Given the description of an element on the screen output the (x, y) to click on. 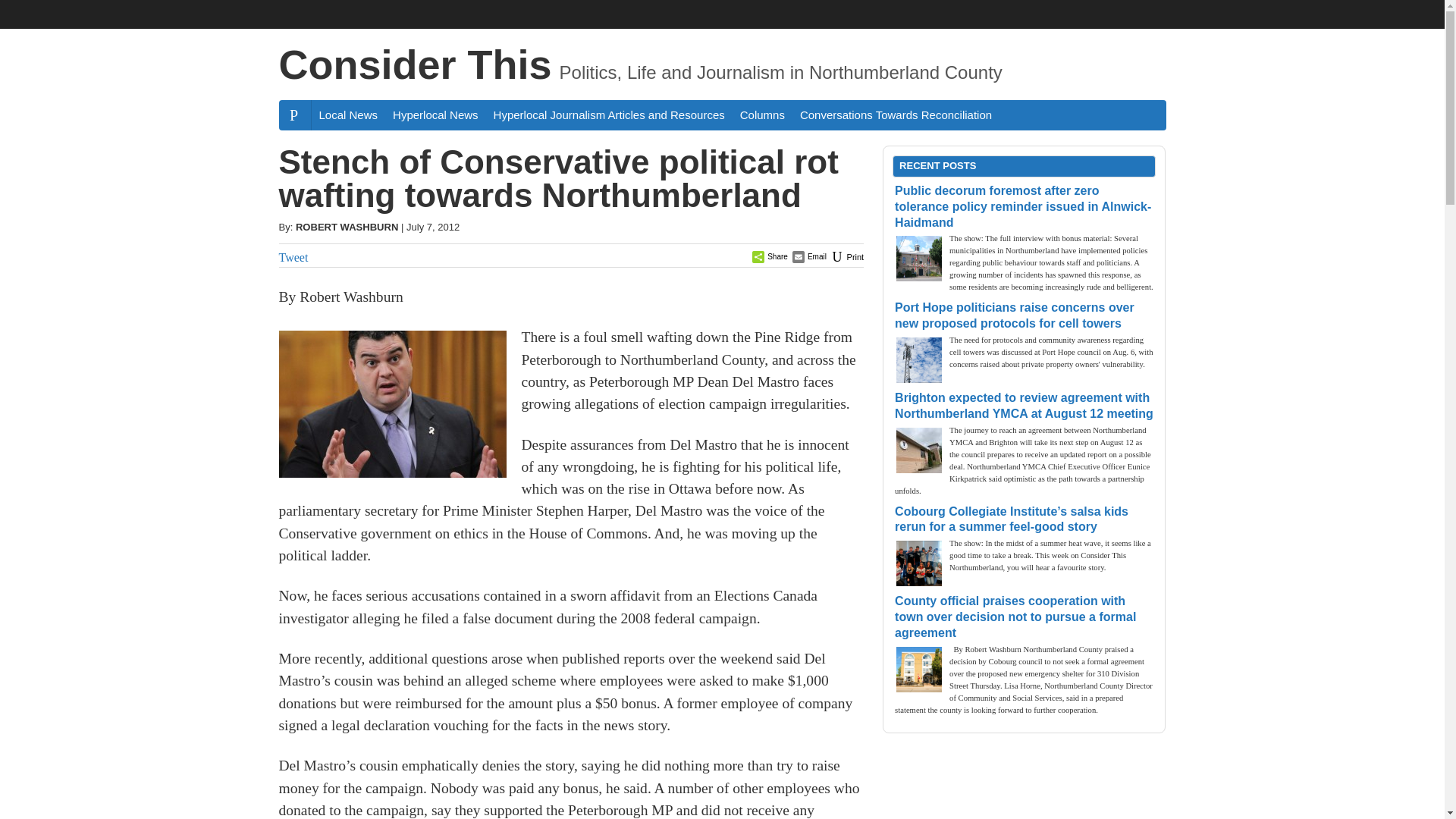
Local News (348, 114)
Dean Del Mastro (392, 403)
Hyperlocal News (435, 114)
ROBERT WASHBURN (346, 226)
Tweet (293, 256)
More from Robert Washburn (346, 226)
Conversations Towards Reconciliation (895, 114)
Print (845, 256)
print this article (845, 256)
